Given the description of an element on the screen output the (x, y) to click on. 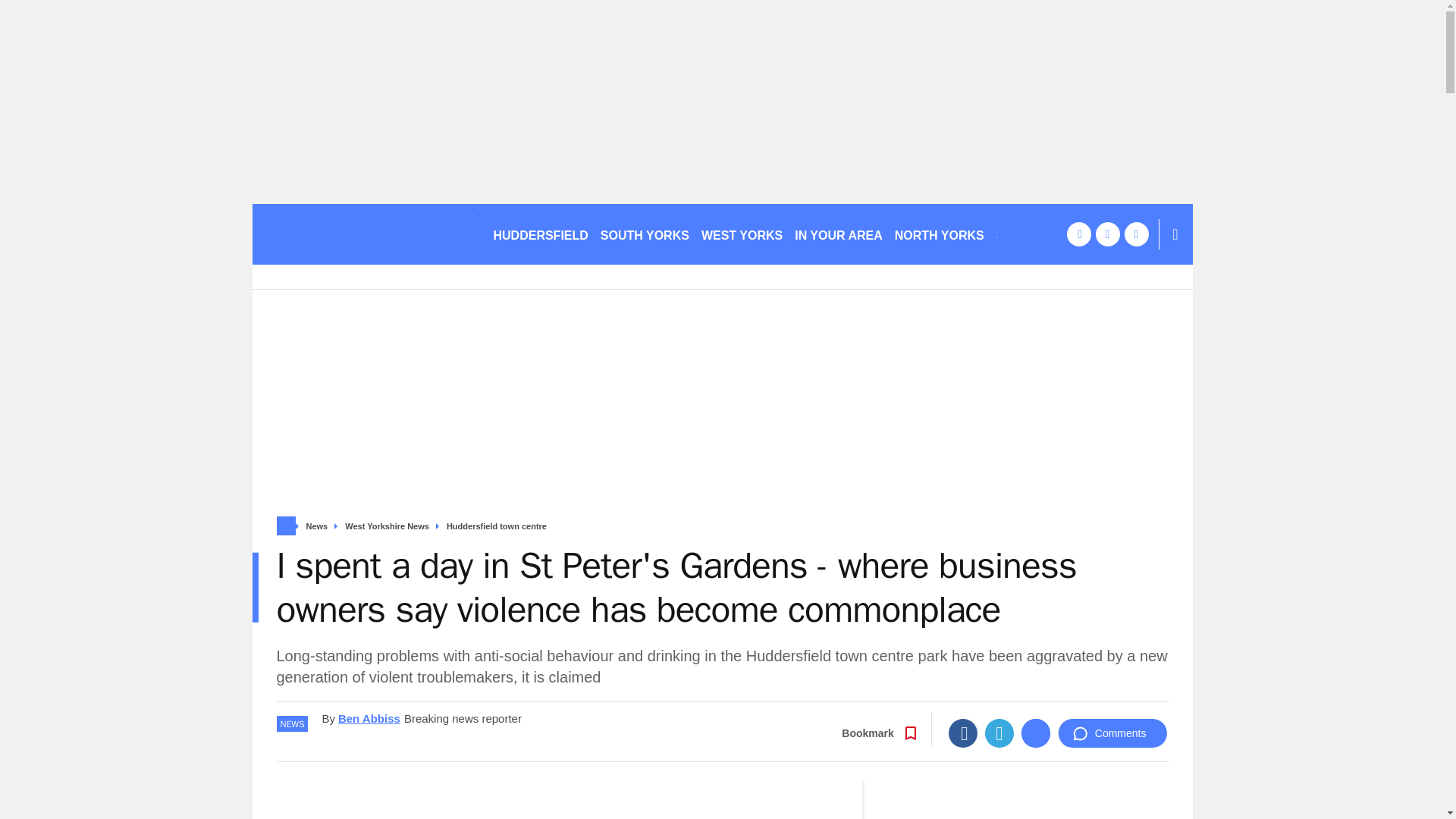
IN YOUR AREA (838, 233)
Facebook (962, 733)
instagram (1136, 233)
NORTH YORKS (939, 233)
SPORT (1023, 233)
twitter (1106, 233)
WEST YORKS (742, 233)
Twitter (999, 733)
huddersfieldexaminer (365, 233)
HUDDERSFIELD (540, 233)
